Given the description of an element on the screen output the (x, y) to click on. 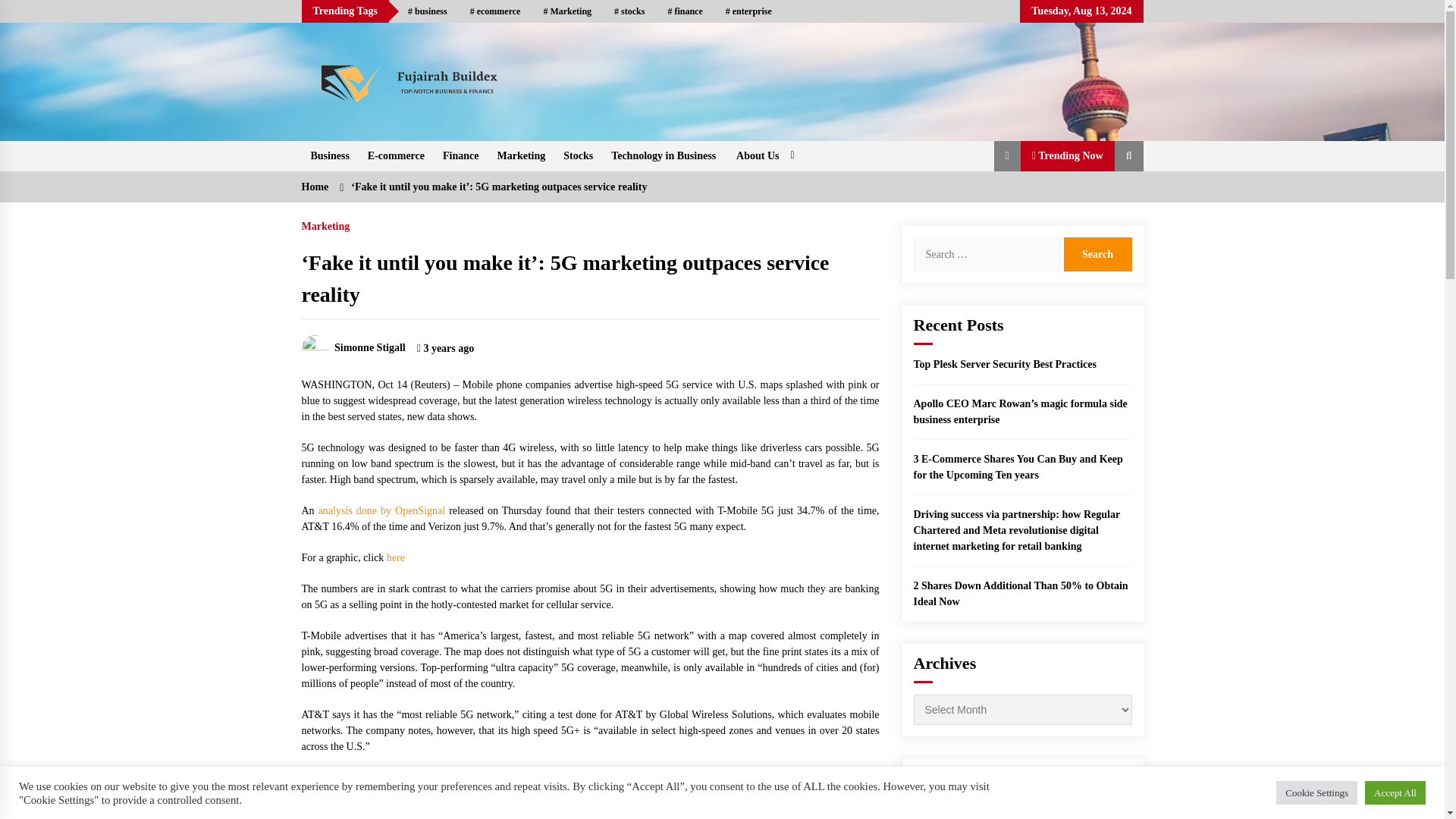
enterprise (748, 11)
Stocks (578, 155)
Search (1096, 254)
Marketing (520, 155)
ecommerce (495, 11)
Finance (460, 155)
business (427, 11)
stocks (629, 11)
Search (1096, 254)
Business (329, 155)
